Given the description of an element on the screen output the (x, y) to click on. 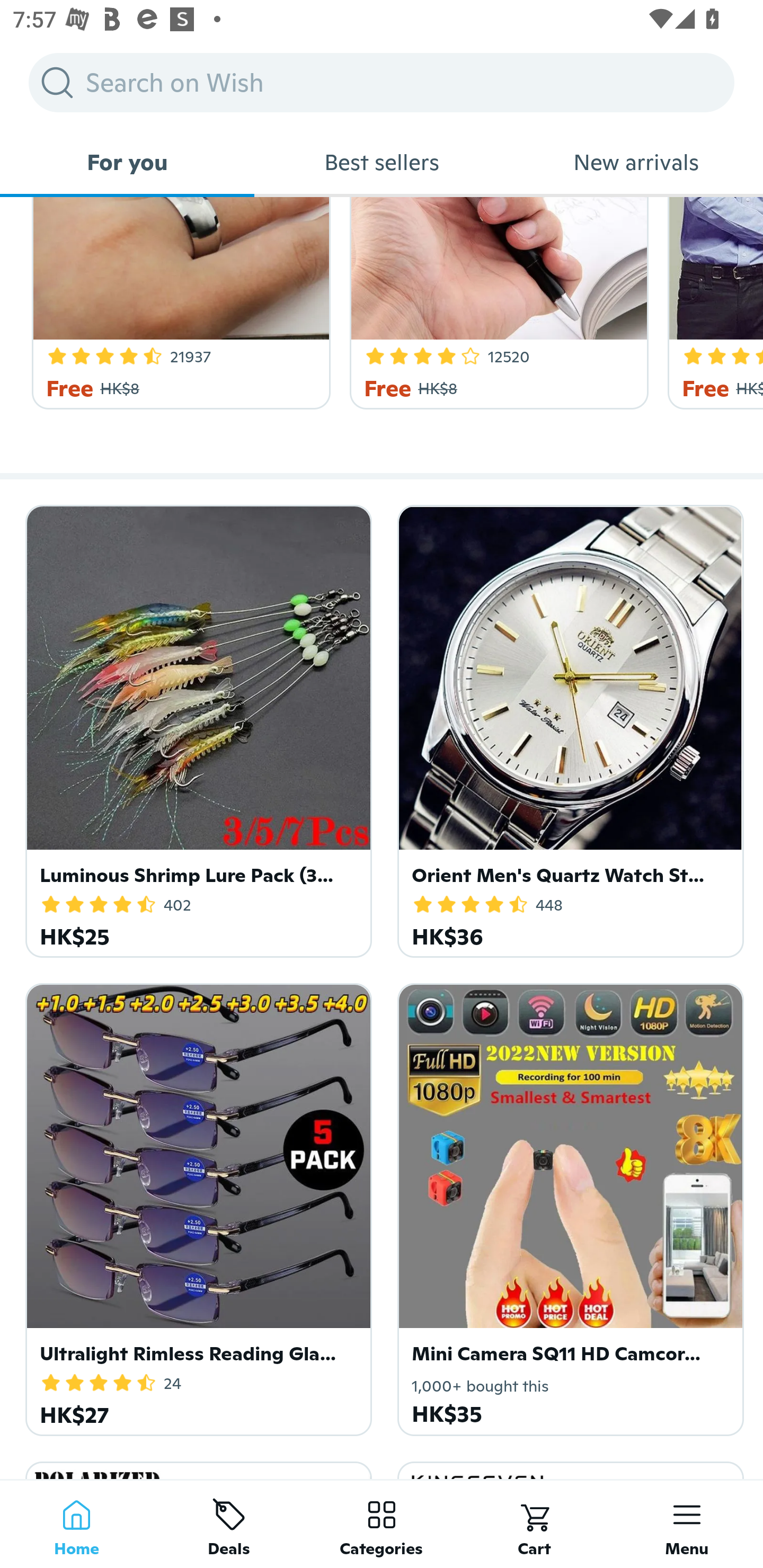
Search on Wish (381, 82)
For you (127, 161)
Best sellers (381, 161)
New arrivals (635, 161)
4.3 Star Rating 21937 Free HK$8 (177, 303)
3.9 Star Rating 12520 Free HK$8 (495, 303)
Home (76, 1523)
Deals (228, 1523)
Categories (381, 1523)
Cart (533, 1523)
Menu (686, 1523)
